Given the description of an element on the screen output the (x, y) to click on. 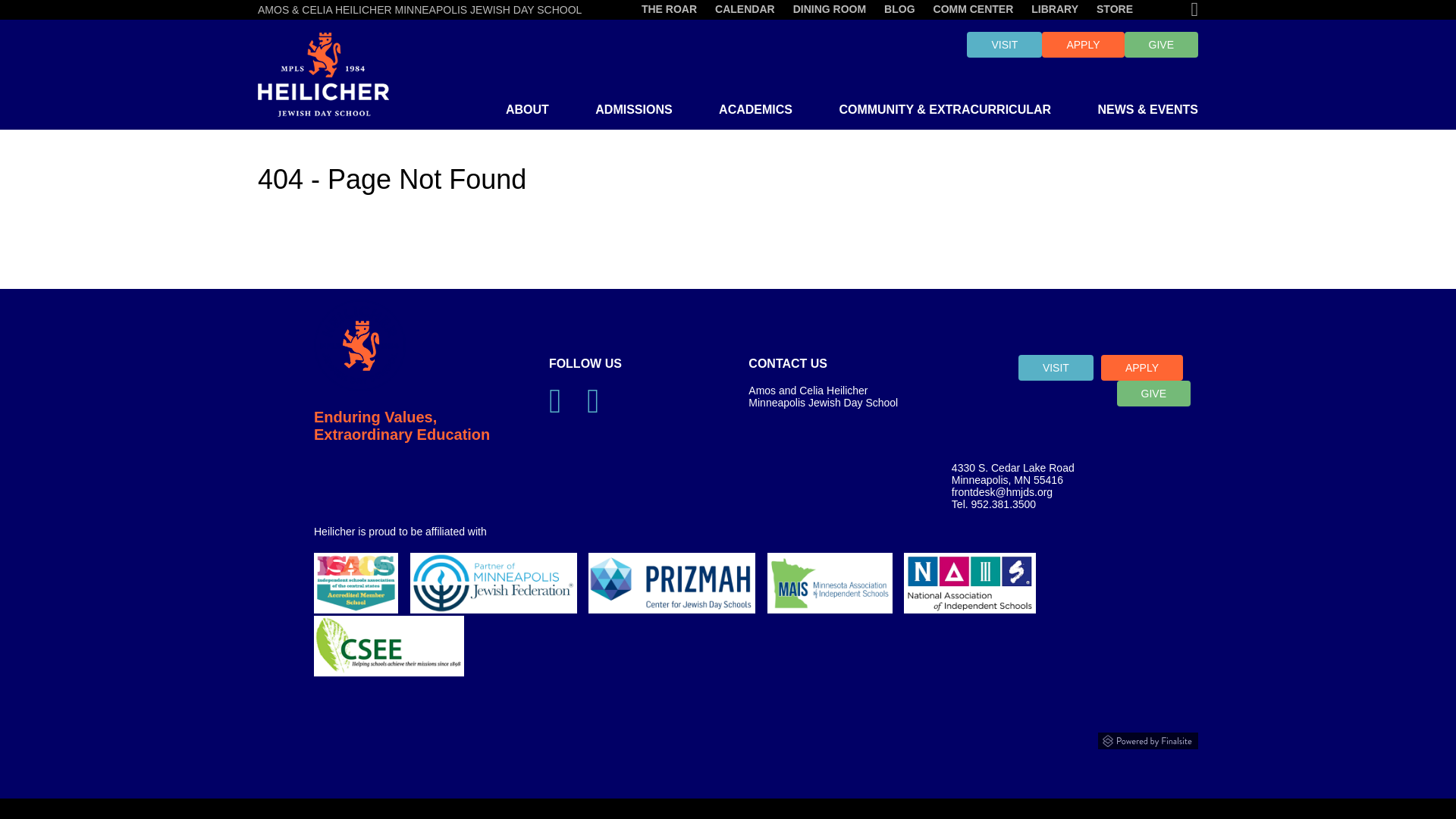
DINING ROOM (829, 9)
ADMISSIONS (633, 116)
Powered by Finalsite opens in a new window (727, 737)
Heilicher Jewish Day School (322, 74)
BLOG (898, 9)
CALENDAR (744, 9)
ABOUT (526, 116)
ACADEMICS (755, 116)
THE ROAR (669, 9)
